Given the description of an element on the screen output the (x, y) to click on. 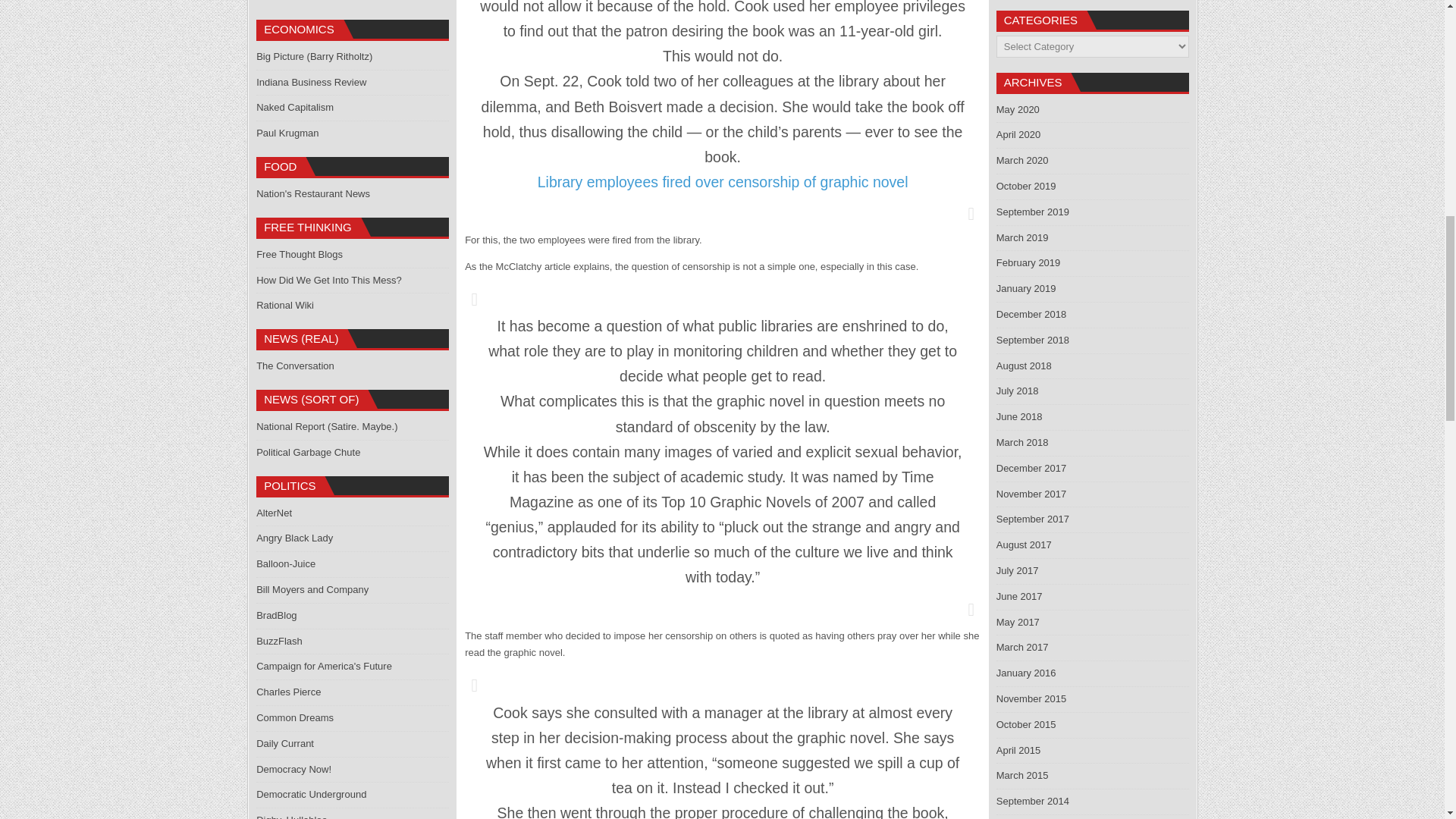
Library employees fired over censorship of graphic novel (722, 181)
TechDirt (274, 0)
